Given the description of an element on the screen output the (x, y) to click on. 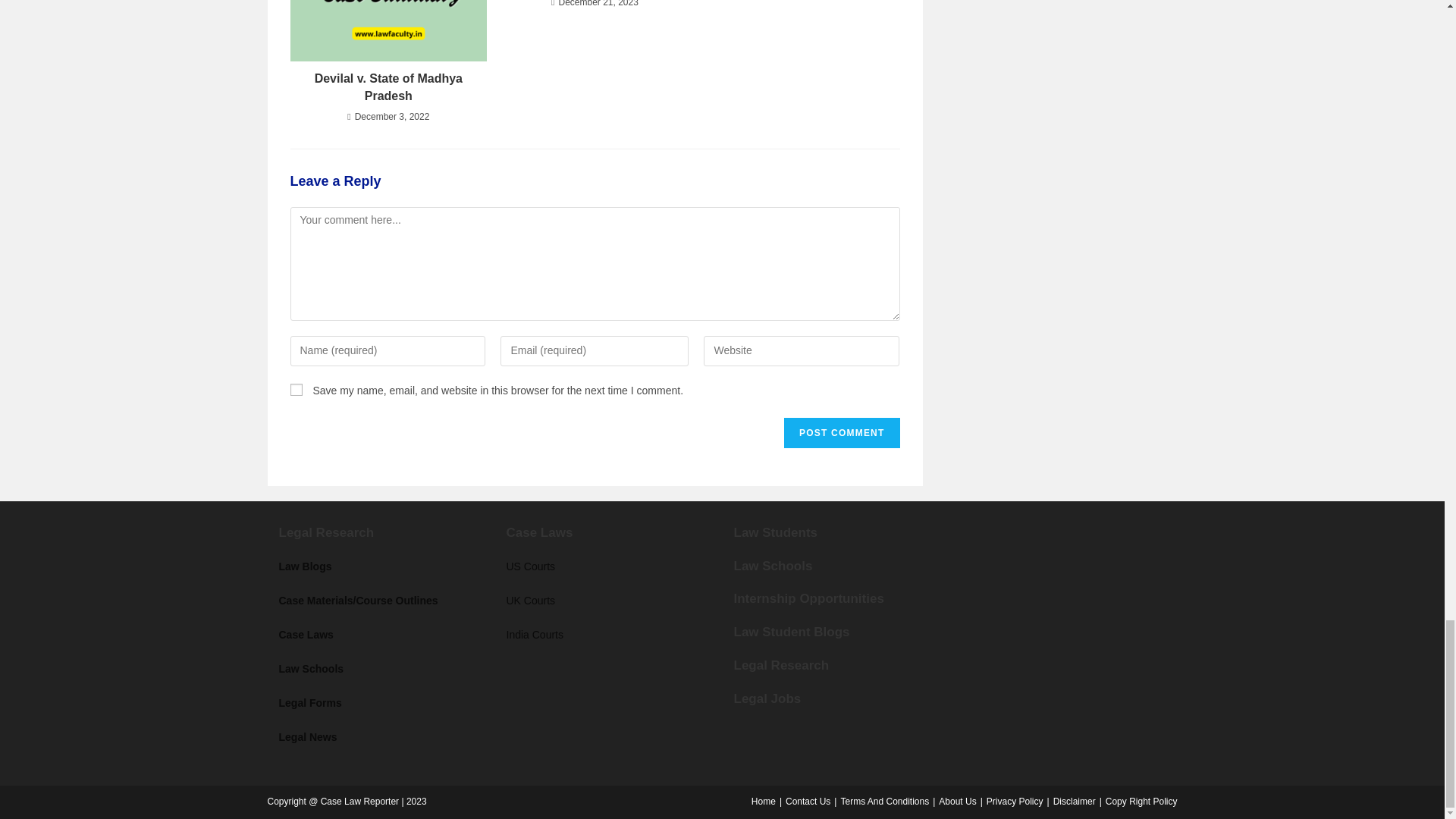
Devilal v. State of Madhya Pradesh (387, 87)
Post Comment (841, 432)
yes (295, 389)
Post Comment (841, 432)
